Given the description of an element on the screen output the (x, y) to click on. 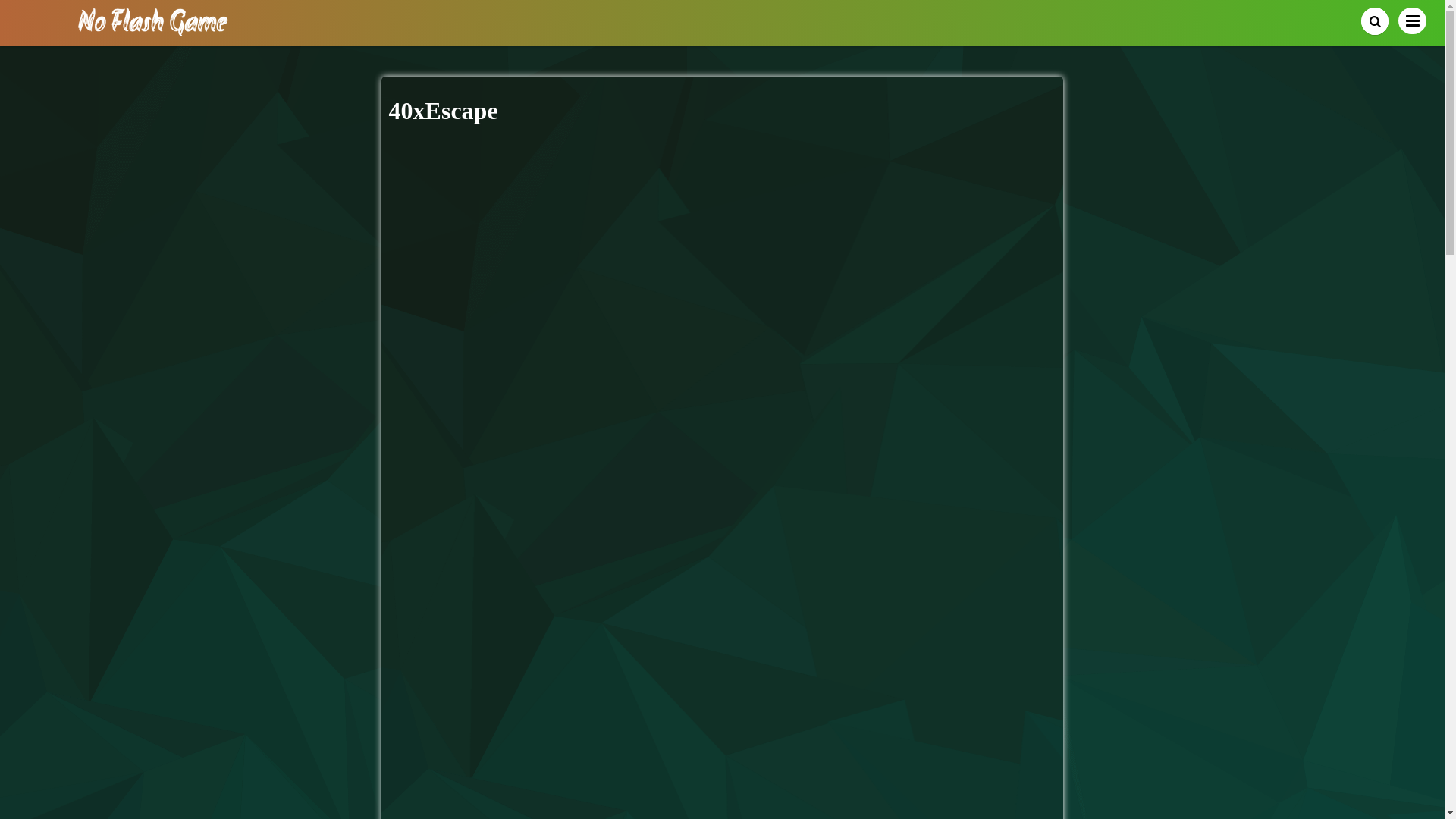
No Flash Game (153, 29)
Search (1375, 21)
